Given the description of an element on the screen output the (x, y) to click on. 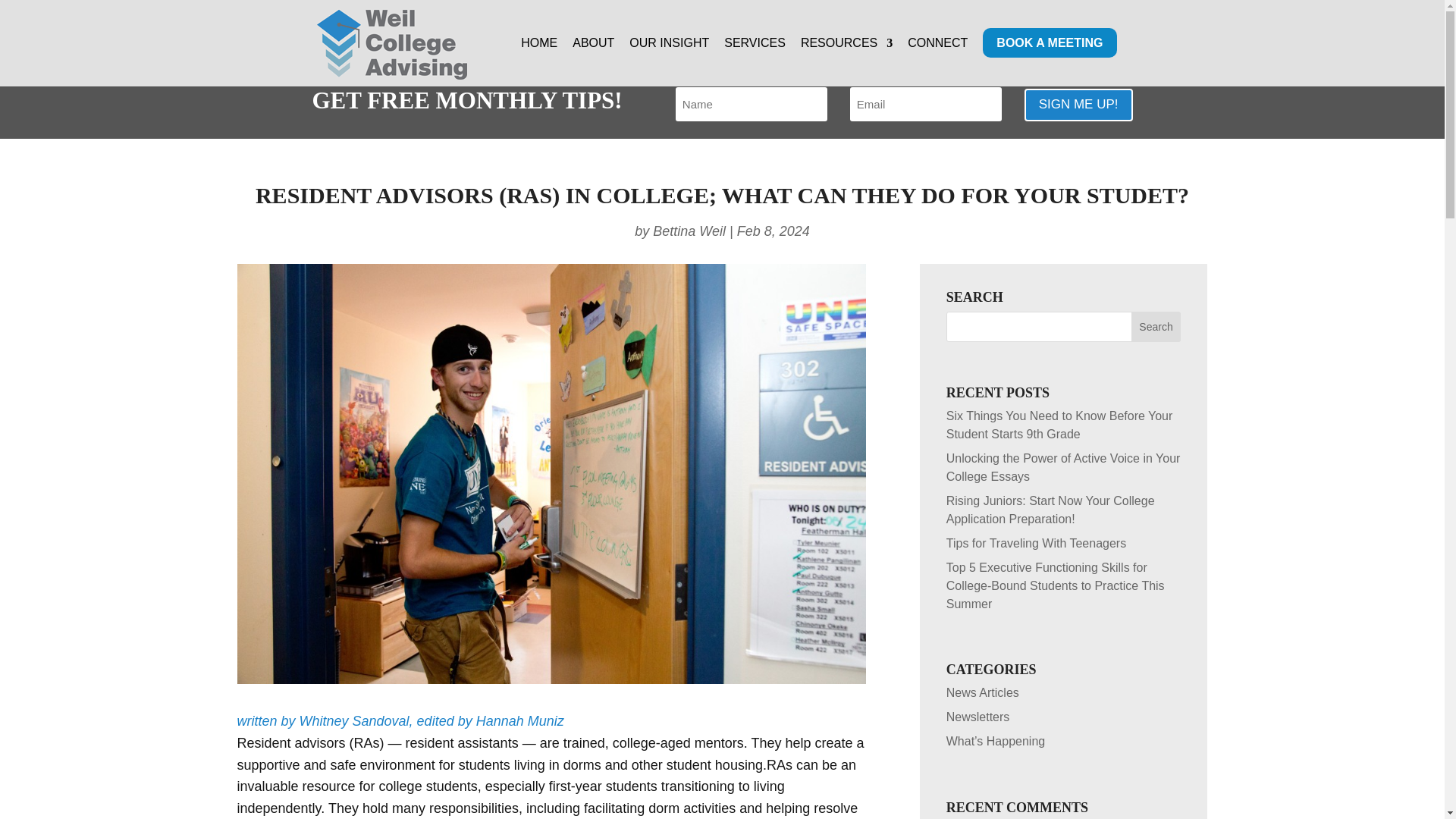
RESOURCES (846, 61)
Newsletters (978, 716)
Search (1155, 327)
OUR INSIGHT (668, 61)
written by Whitney Sandoval, edited by Hannah Muniz (399, 720)
SERVICES (754, 61)
Search (1155, 327)
SIGN ME UP! (1078, 104)
Unlocking the Power of Active Voice in Your College Essays (1063, 467)
Tips for Traveling With Teenagers (1035, 543)
CONNECT (937, 61)
